Given the description of an element on the screen output the (x, y) to click on. 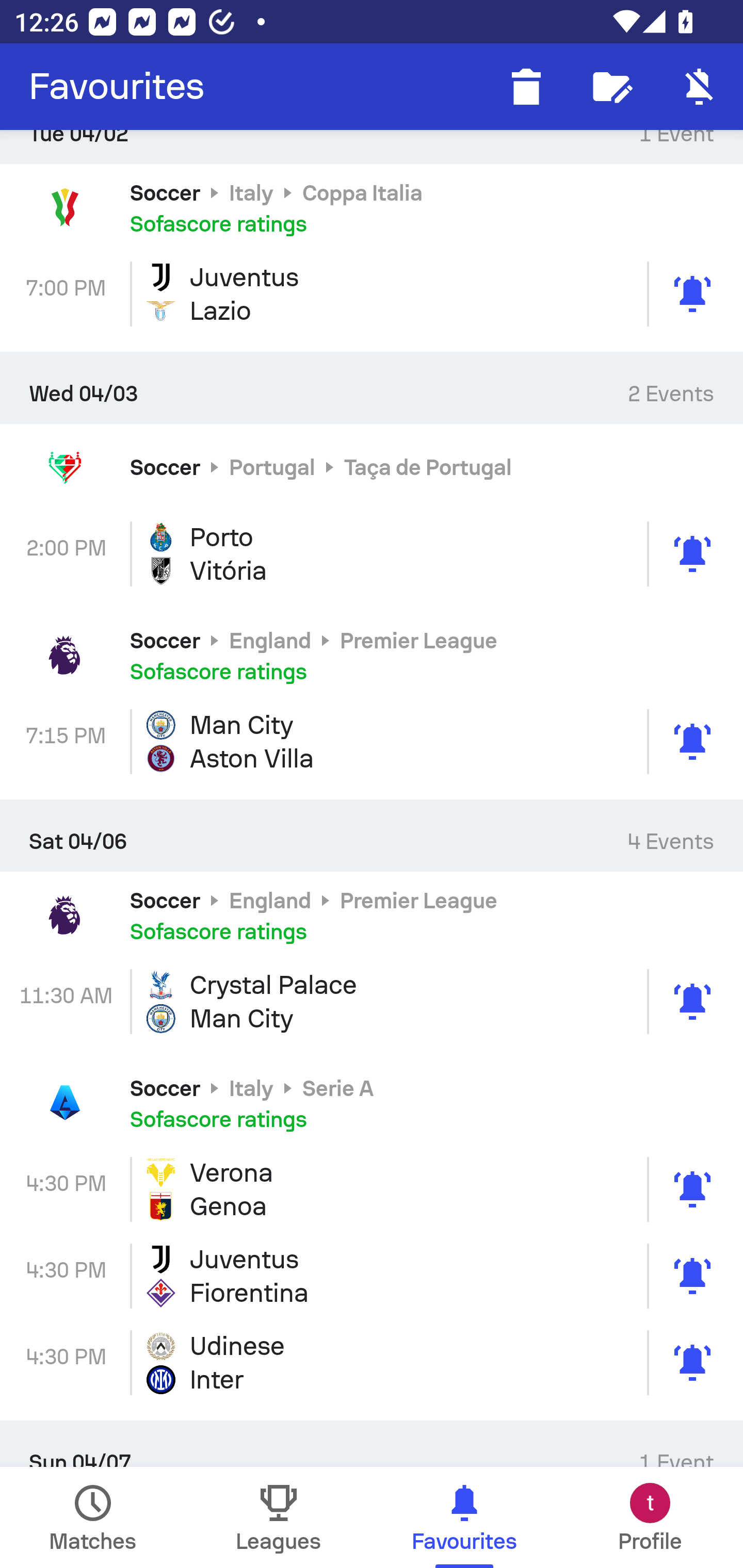
Favourites (116, 86)
Delete finished (525, 86)
Follow editor (612, 86)
Enable notifications (699, 86)
Soccer Italy Coppa Italia Sofascore ratings (371, 207)
7:00 PM Juventus Lazio (371, 293)
Wed 04/03 2 Events (371, 387)
Soccer Portugal Taça de Portugal (371, 467)
2:00 PM Porto Vitória (371, 554)
Soccer England Premier League Sofascore ratings (371, 654)
7:15 PM Man City Aston Villa (371, 741)
Sat 04/06 4 Events (371, 835)
Soccer England Premier League Sofascore ratings (371, 914)
11:30 AM Crystal Palace Man City (371, 1001)
Soccer Italy Serie A Sofascore ratings (371, 1102)
4:30 PM Verona Genoa (371, 1189)
4:30 PM Juventus Fiorentina (371, 1275)
4:30 PM Udinese Inter (371, 1362)
Matches (92, 1517)
Leagues (278, 1517)
Profile (650, 1517)
